Given the description of an element on the screen output the (x, y) to click on. 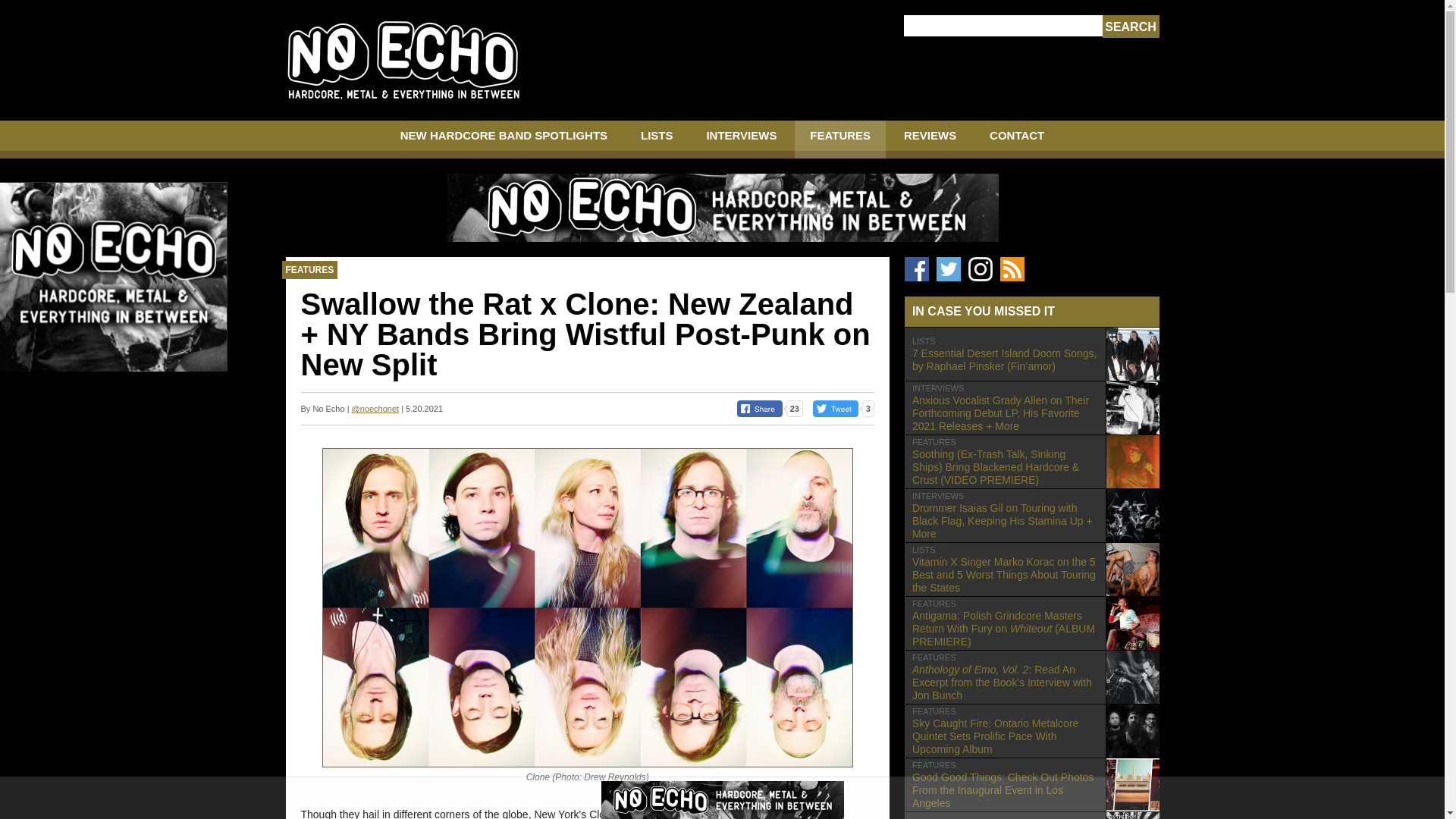
INTERVIEWS (741, 139)
CONTACT (1016, 139)
REVIEWS (929, 139)
LISTS (657, 139)
NEW HARDCORE BAND SPOTLIGHTS (504, 139)
Search (1130, 26)
FEATURES (839, 139)
Search (1130, 26)
